Given the description of an element on the screen output the (x, y) to click on. 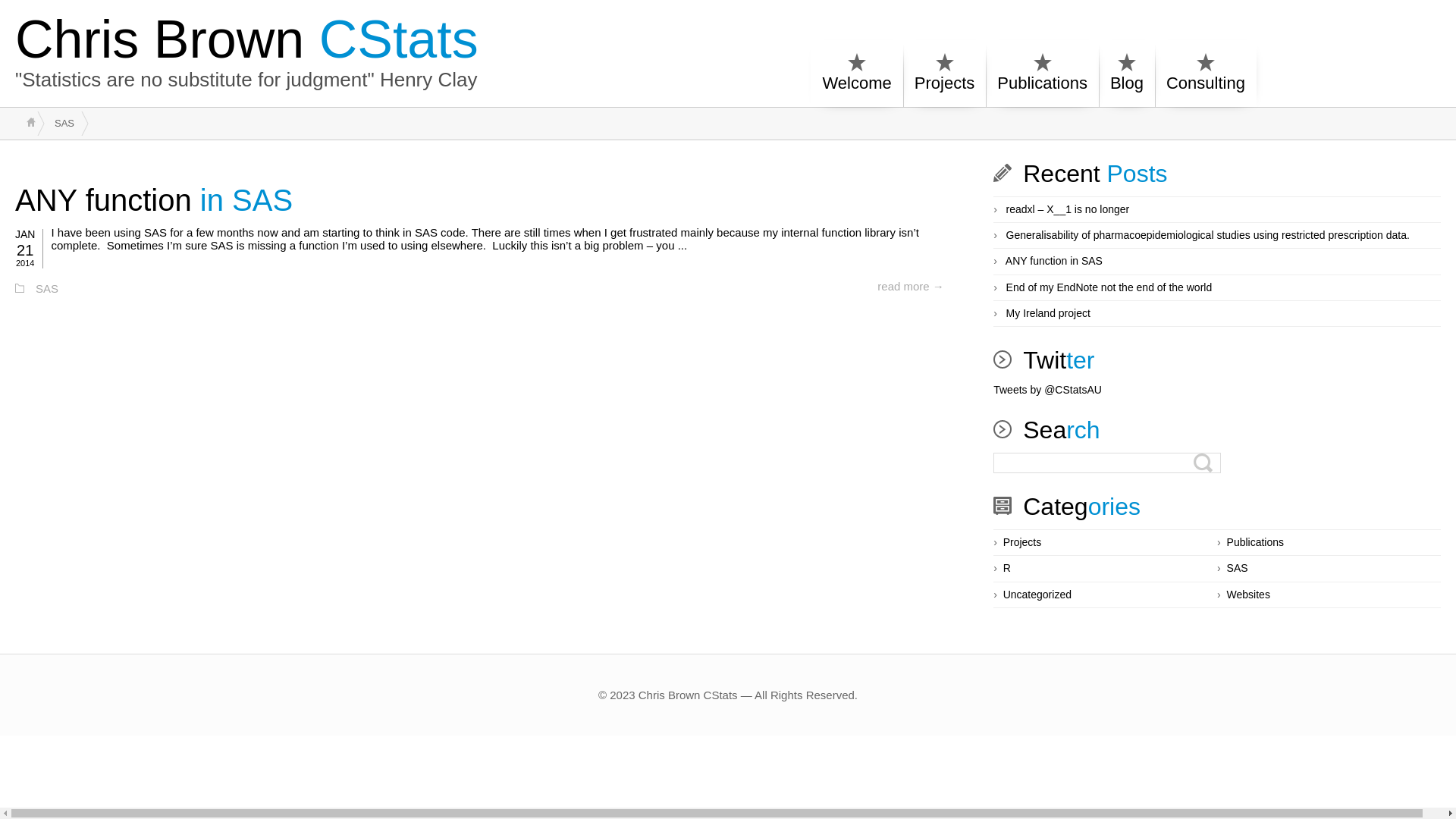
Publications Element type: text (1041, 74)
End of my EndNote not the end of the world Element type: text (1109, 287)
ANY function in SAS Element type: text (1053, 261)
Publications Element type: text (1255, 542)
Subscribe to RSS Feed Element type: hover (1424, 54)
Consulting Element type: text (1205, 74)
SAS Element type: text (46, 289)
My Ireland project Element type: text (1048, 313)
Welcome Element type: text (856, 74)
SAS Element type: text (1237, 568)
Tweets by @CStatsAU Element type: text (1047, 390)
Uncategorized Element type: text (1037, 595)
  Element type: text (30, 121)
ANY function in SAS Element type: text (153, 199)
R Element type: text (1006, 568)
Chris Brown CStats Element type: text (246, 39)
Projects Element type: text (944, 74)
Blog Element type: text (1126, 74)
search Element type: text (10, 10)
Projects Element type: text (1022, 542)
Websites Element type: text (1248, 595)
